Given the description of an element on the screen output the (x, y) to click on. 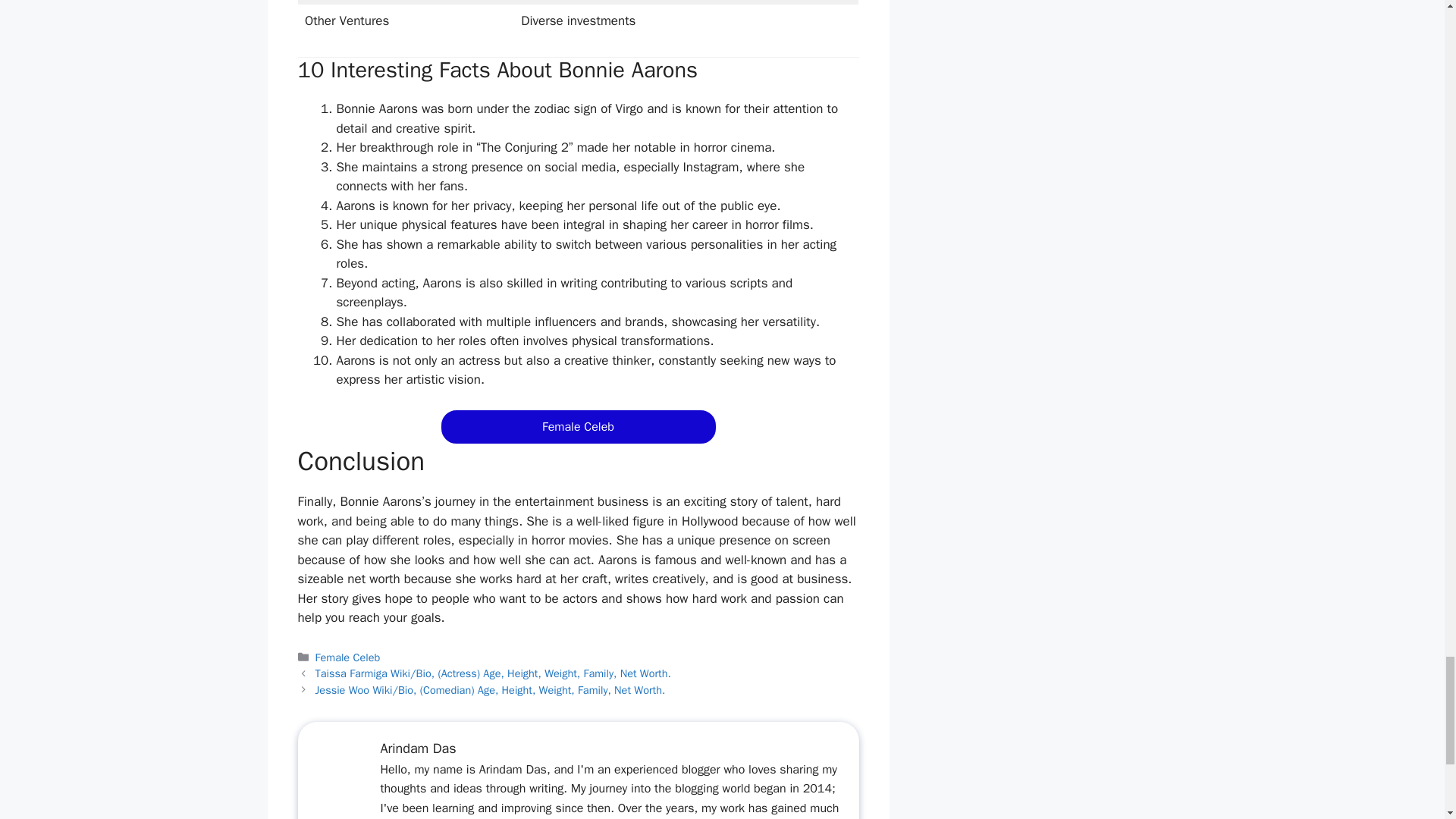
Female Celeb (578, 426)
Female Celeb (347, 657)
